Given the description of an element on the screen output the (x, y) to click on. 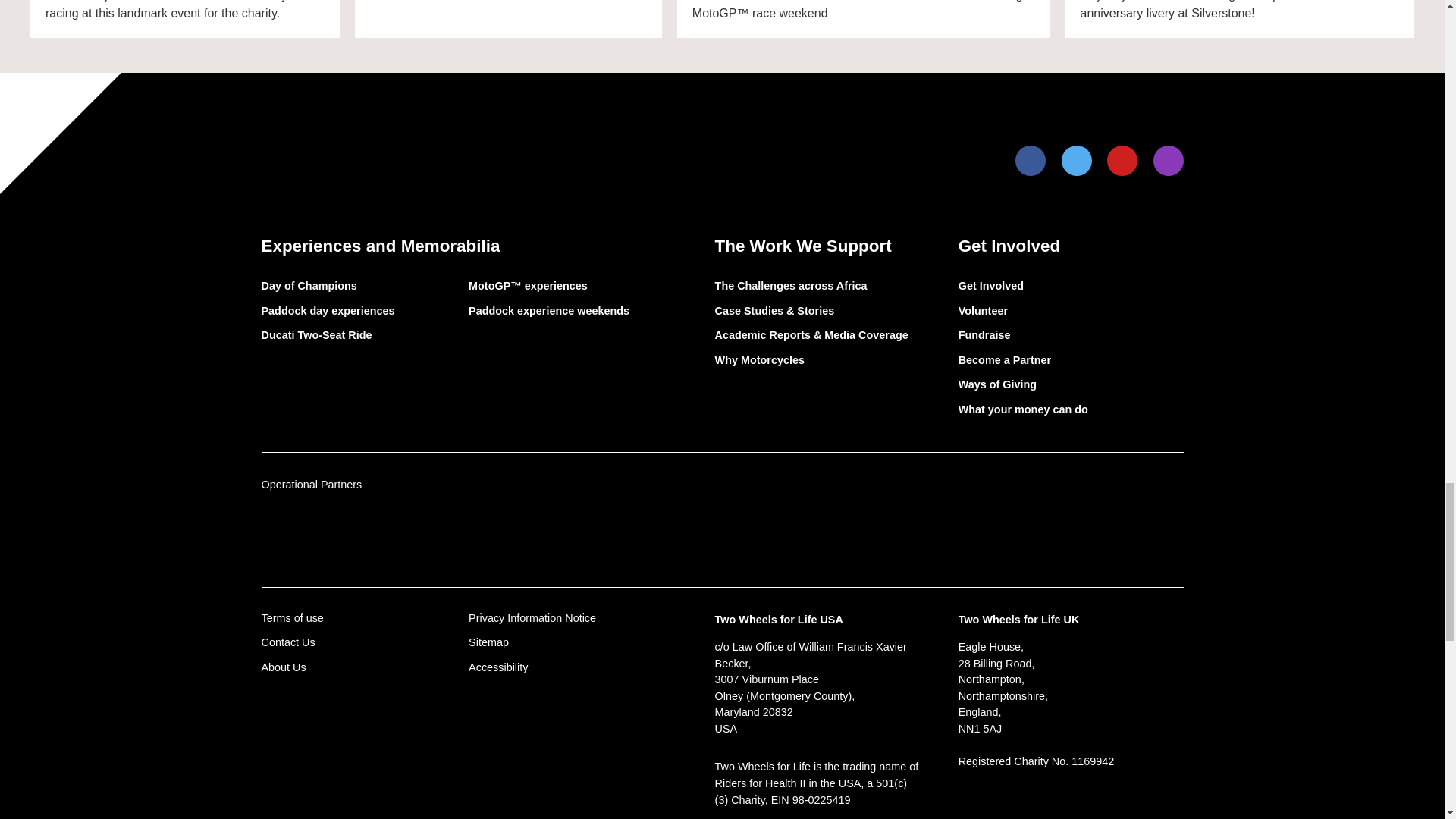
Youtube (1123, 160)
Instagram (1168, 160)
Facebook (1031, 160)
Twitter (1076, 160)
